Given the description of an element on the screen output the (x, y) to click on. 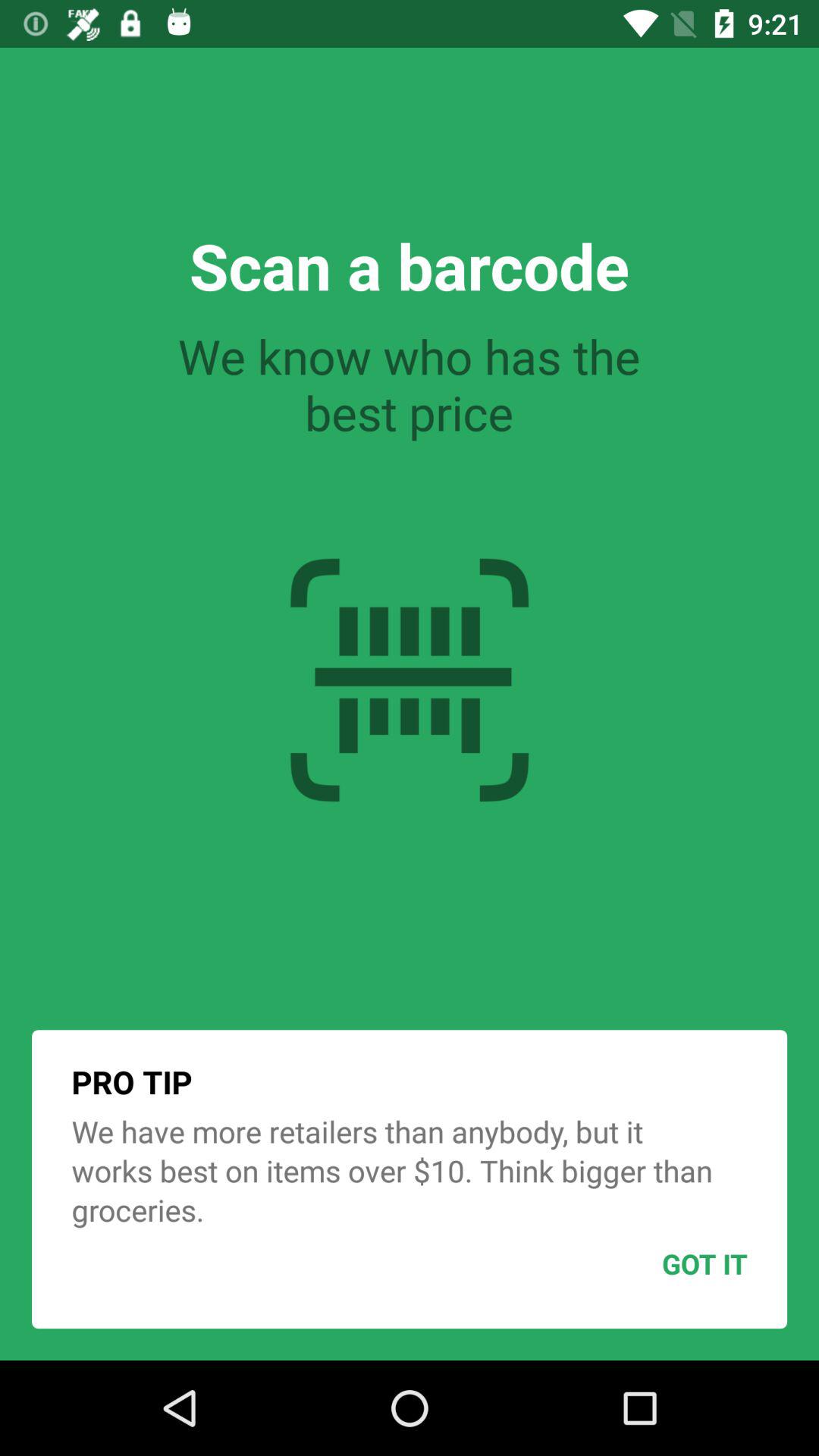
turn off icon at the bottom right corner (667, 1263)
